Given the description of an element on the screen output the (x, y) to click on. 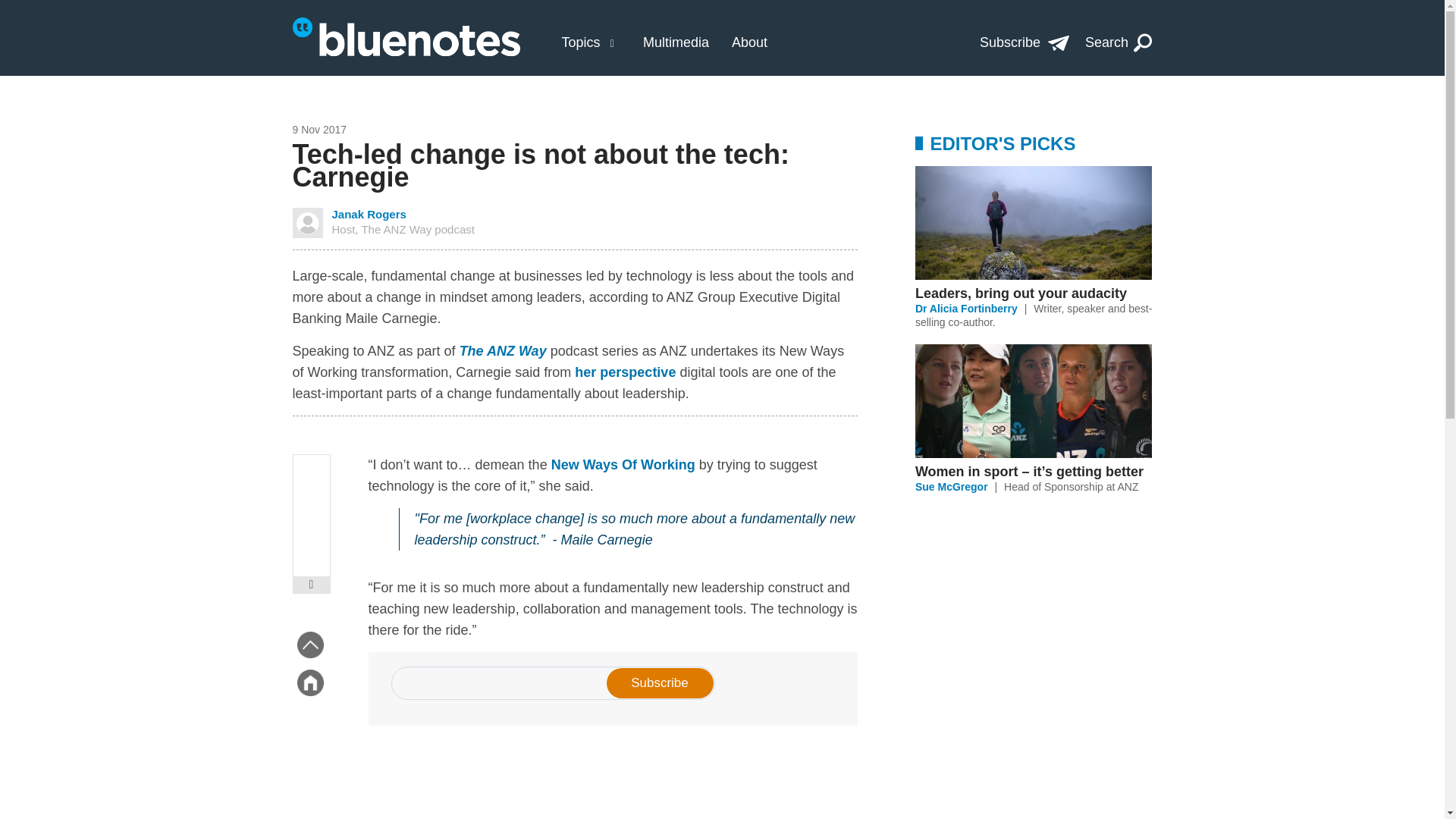
Search (1118, 42)
Topics (579, 42)
her perspective (625, 372)
Leaders, bring out your audacity (1033, 293)
The ANZ Way (503, 350)
Subscribe (1023, 42)
About (749, 42)
Multimedia (676, 42)
Writer, speaker and best-selling co-author. (1033, 315)
Head of Sponsorship at ANZ (1071, 486)
